Given the description of an element on the screen output the (x, y) to click on. 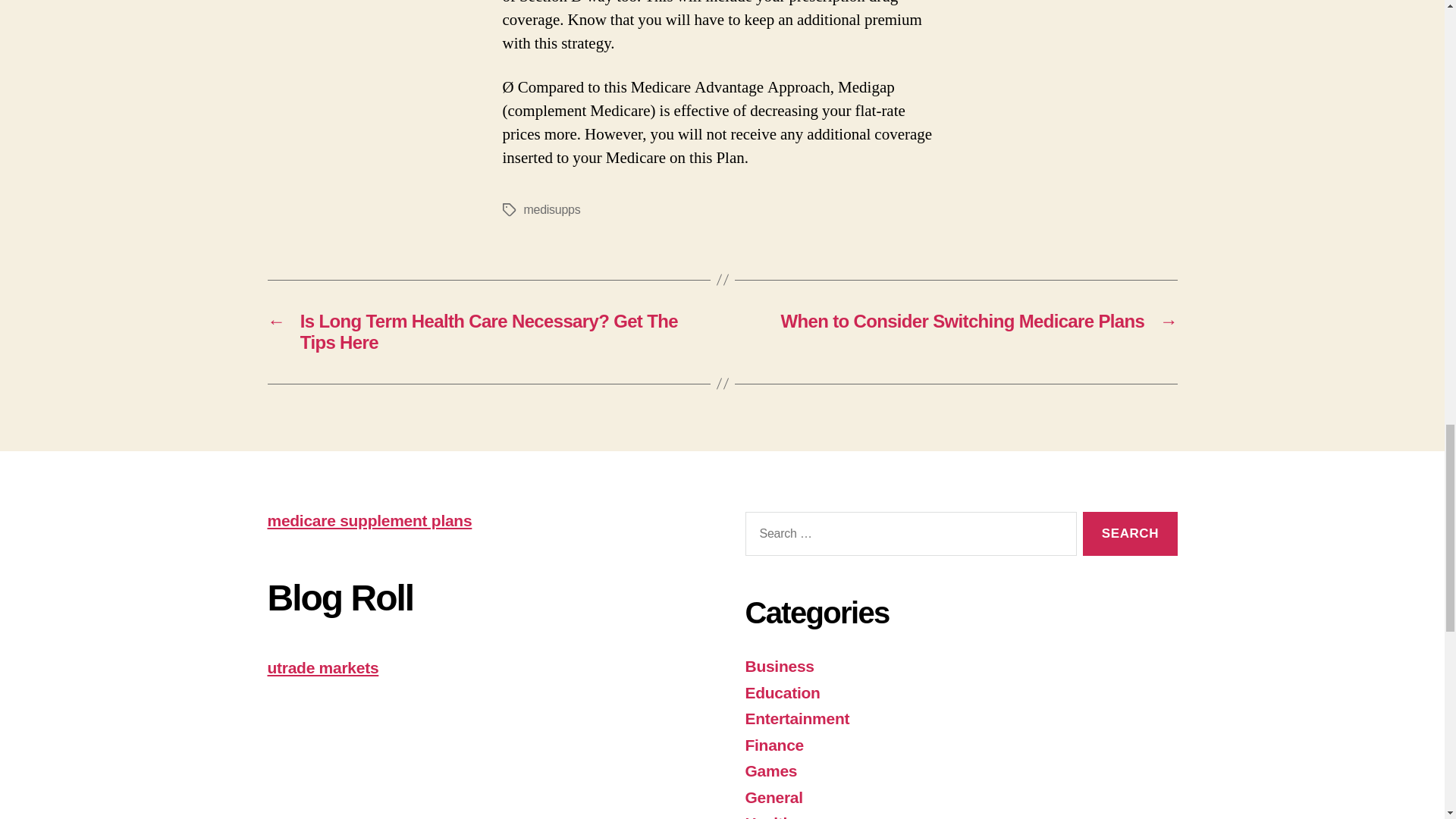
Health (768, 816)
Search (1129, 533)
medicare supplement plans (368, 520)
Entertainment (796, 718)
Education (781, 692)
Search (1129, 533)
Games (770, 770)
Business (778, 665)
Search (1129, 533)
Finance (773, 744)
medisupps (550, 209)
General (773, 796)
utrade markets (322, 667)
